Given the description of an element on the screen output the (x, y) to click on. 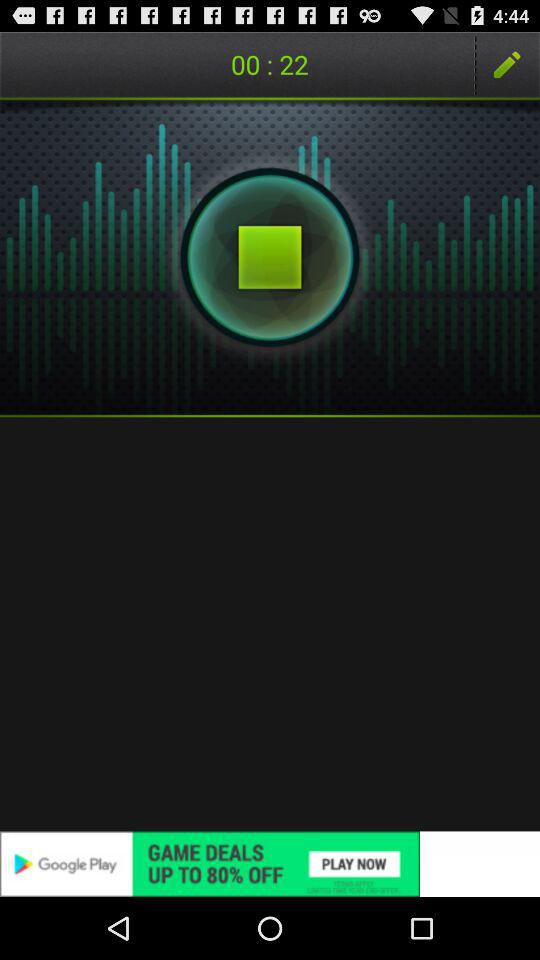
edit name (507, 64)
